Given the description of an element on the screen output the (x, y) to click on. 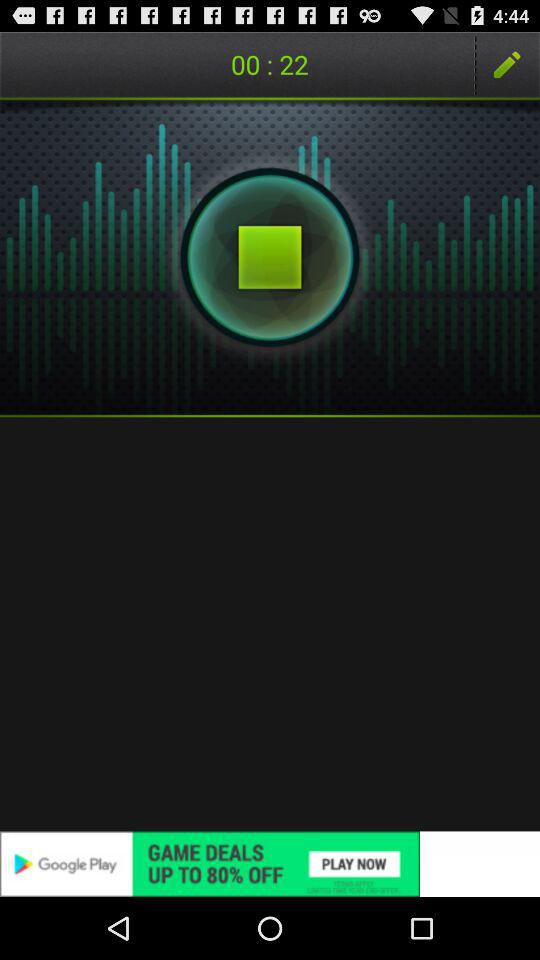
edit name (507, 64)
